Given the description of an element on the screen output the (x, y) to click on. 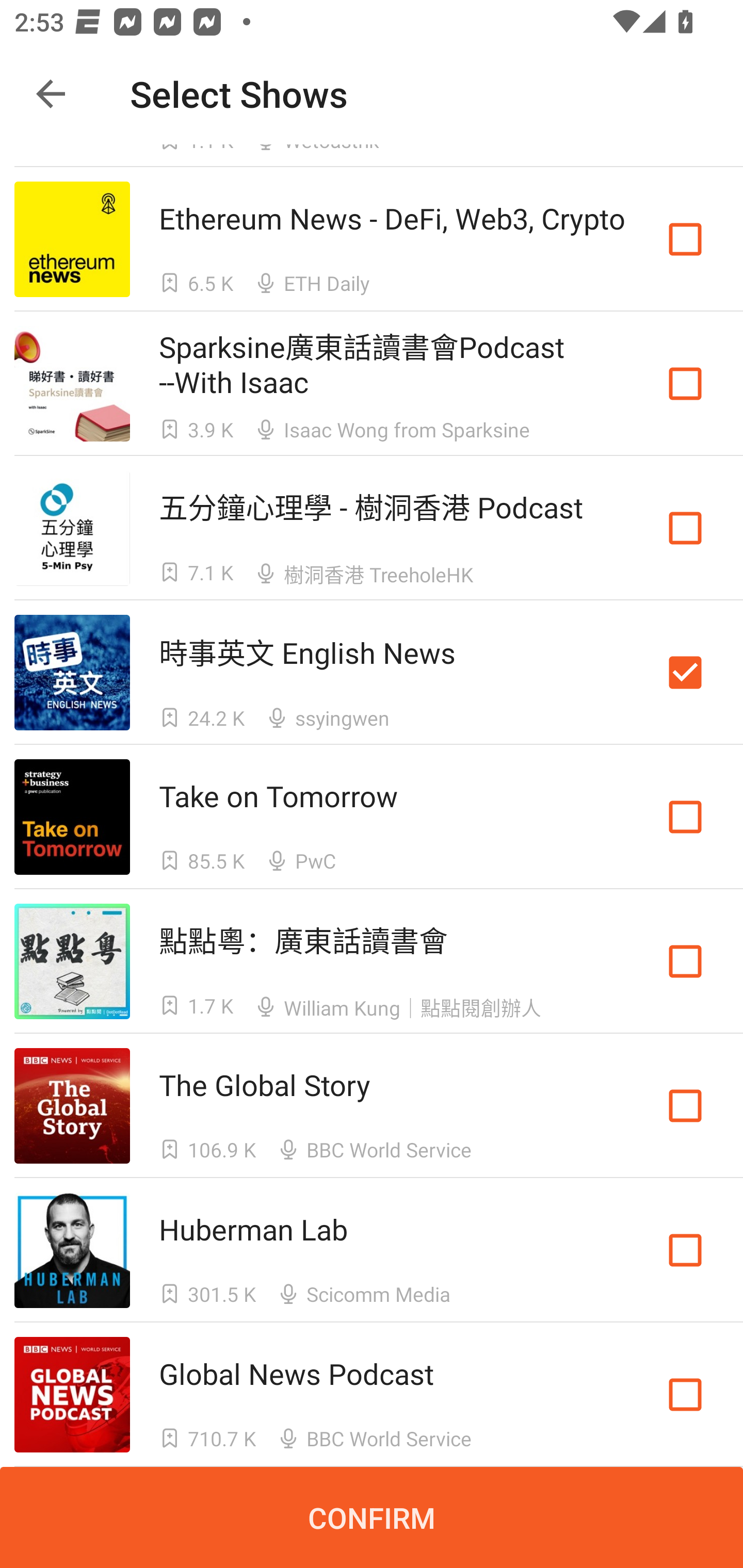
Navigate up (50, 93)
Take on Tomorrow Take on Tomorrow  85.5 K  PwC (371, 816)
CONFIRM (371, 1517)
